Given the description of an element on the screen output the (x, y) to click on. 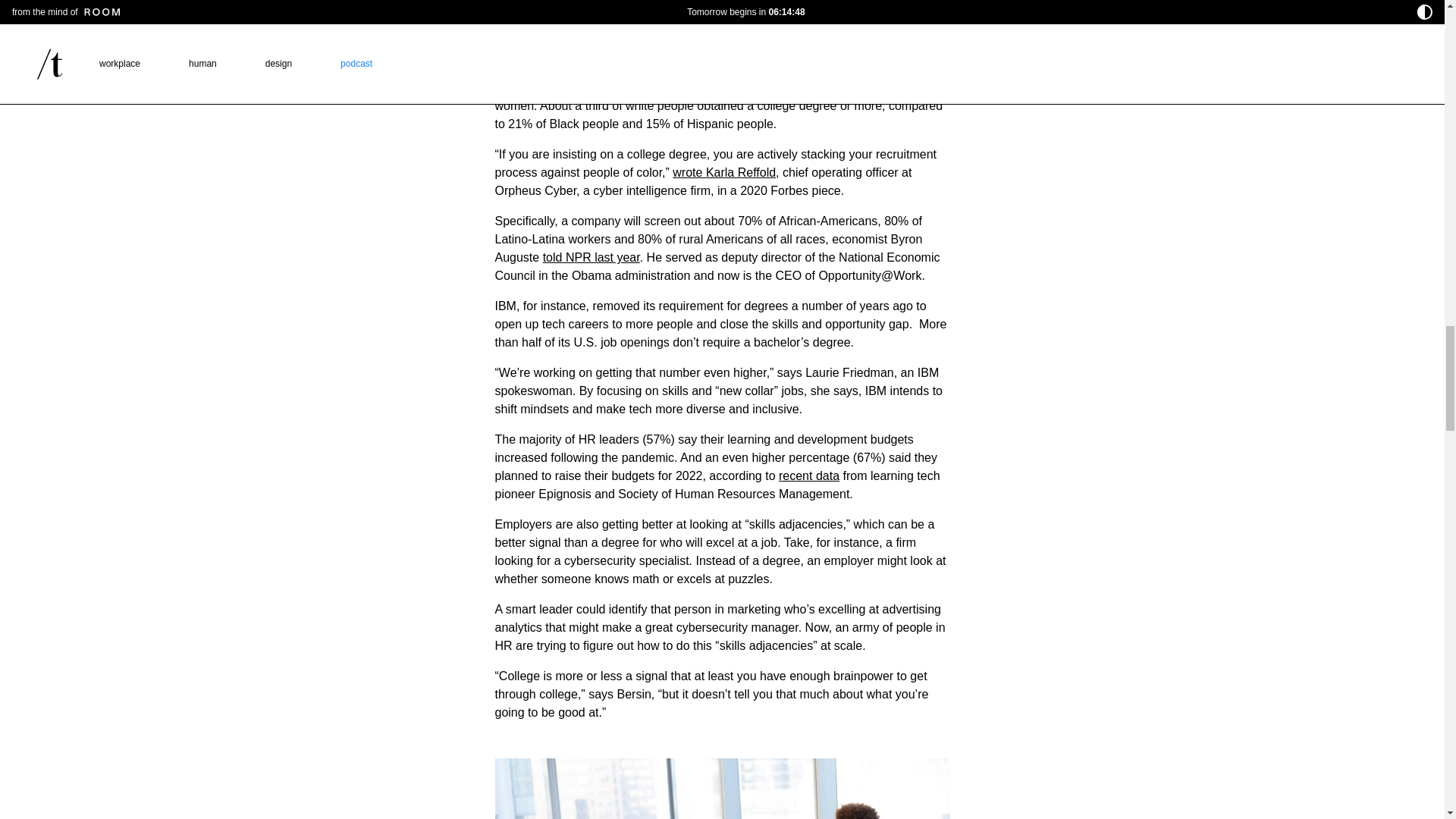
Karla Reffold (741, 172)
recent data (809, 475)
PR last year (606, 256)
wrote (689, 172)
earn engineering degrees at 11 times (728, 87)
told N (559, 256)
